Given the description of an element on the screen output the (x, y) to click on. 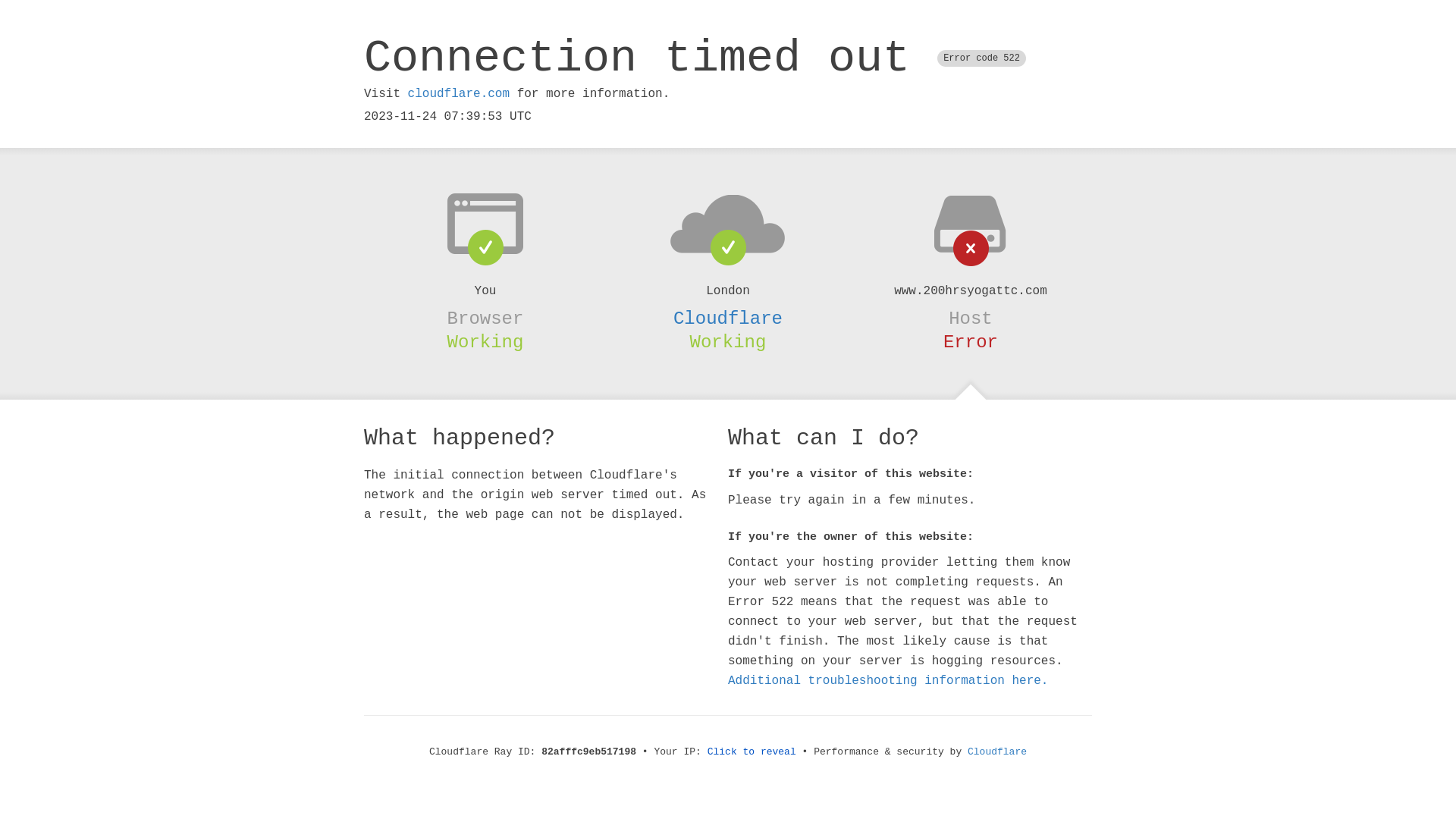
Cloudflare Element type: text (996, 751)
Click to reveal Element type: text (751, 751)
Cloudflare Element type: text (727, 318)
cloudflare.com Element type: text (458, 93)
Additional troubleshooting information here. Element type: text (888, 680)
